Given the description of an element on the screen output the (x, y) to click on. 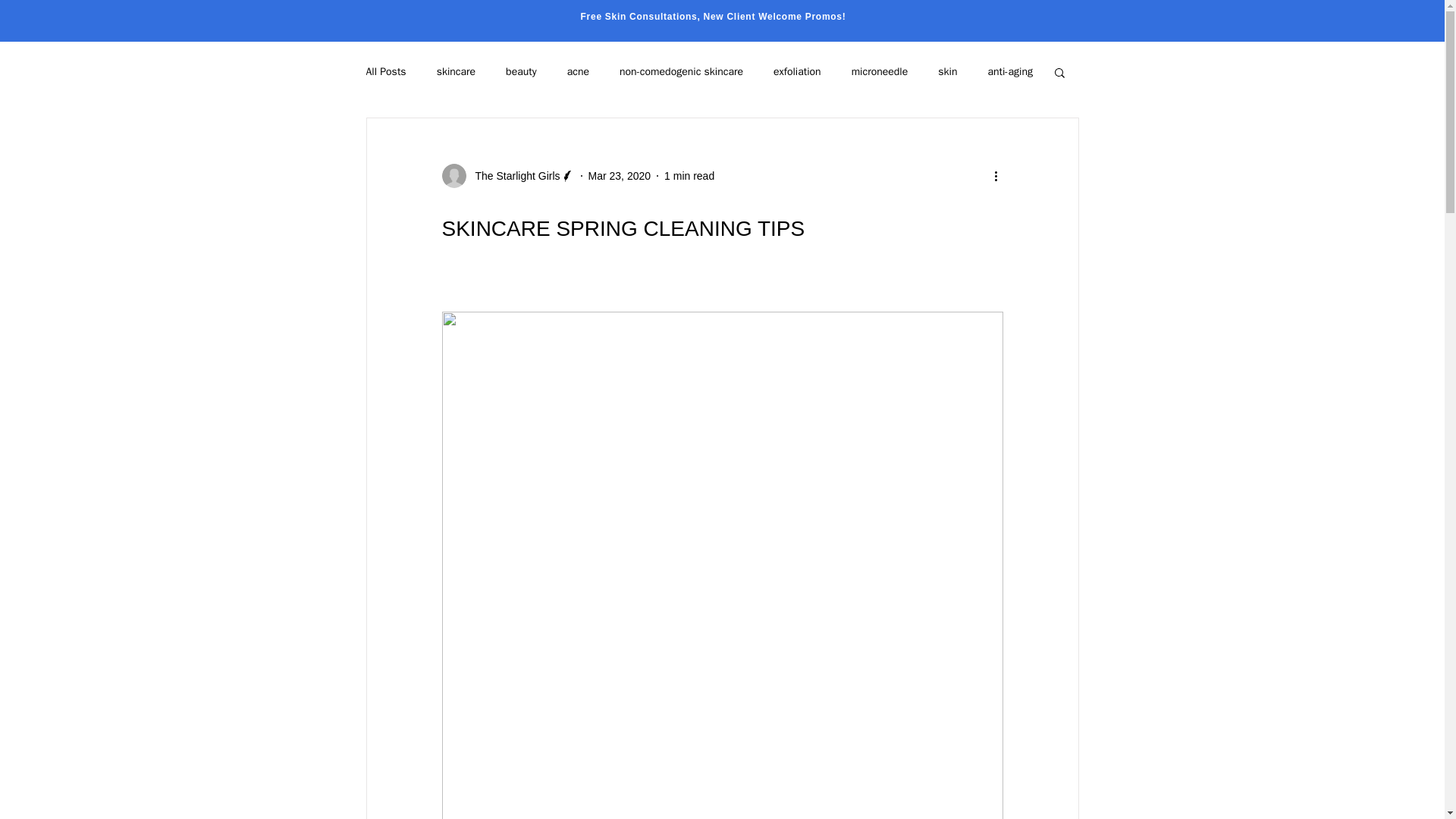
anti-aging (1009, 71)
exfoliation (797, 71)
The Starlight Girls (512, 176)
skincare (456, 71)
Mar 23, 2020 (619, 175)
acne (578, 71)
All Posts (385, 71)
The Starlight Girls (507, 175)
skin (946, 71)
beauty (521, 71)
